Given the description of an element on the screen output the (x, y) to click on. 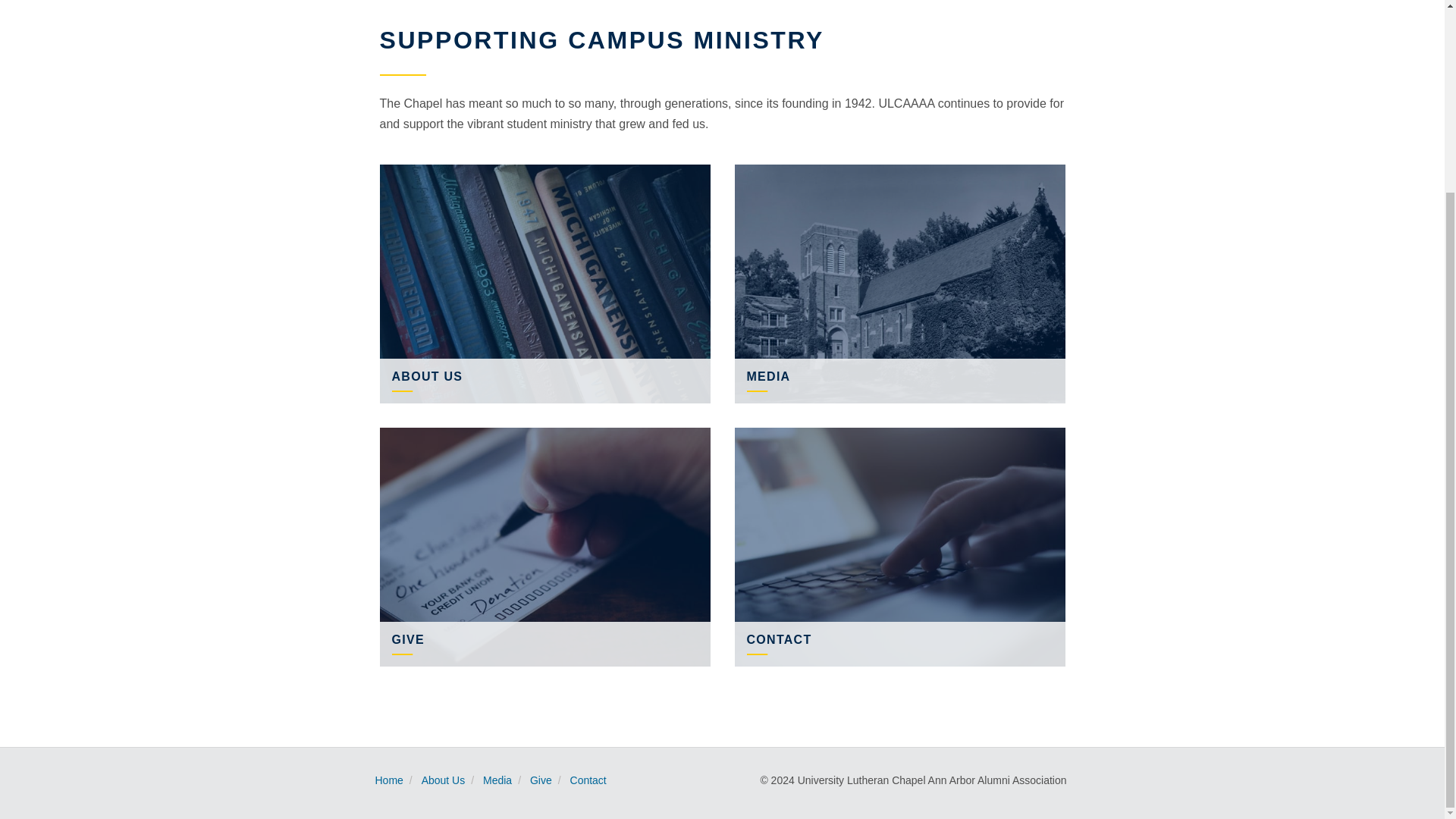
Give (543, 779)
Media (500, 779)
Contact (588, 779)
About Us (446, 779)
Home (391, 779)
